Given the description of an element on the screen output the (x, y) to click on. 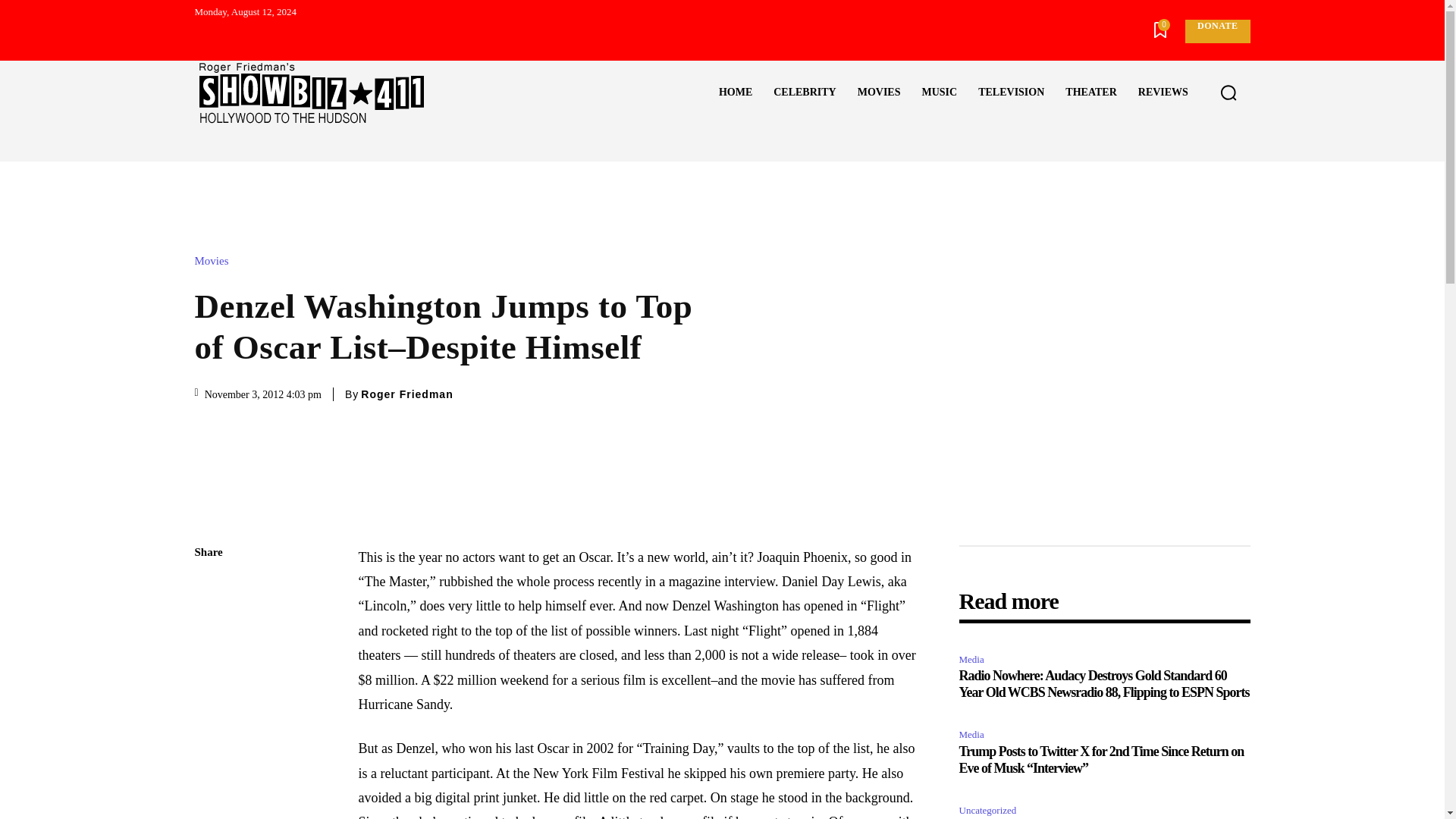
THEATER (1090, 92)
HOME (734, 92)
Donate (1217, 31)
MOVIES (879, 92)
MUSIC (939, 92)
DONATE (1217, 31)
Movies (214, 260)
TELEVISION (1011, 92)
CELEBRITY (803, 92)
REVIEWS (1162, 92)
